Given the description of an element on the screen output the (x, y) to click on. 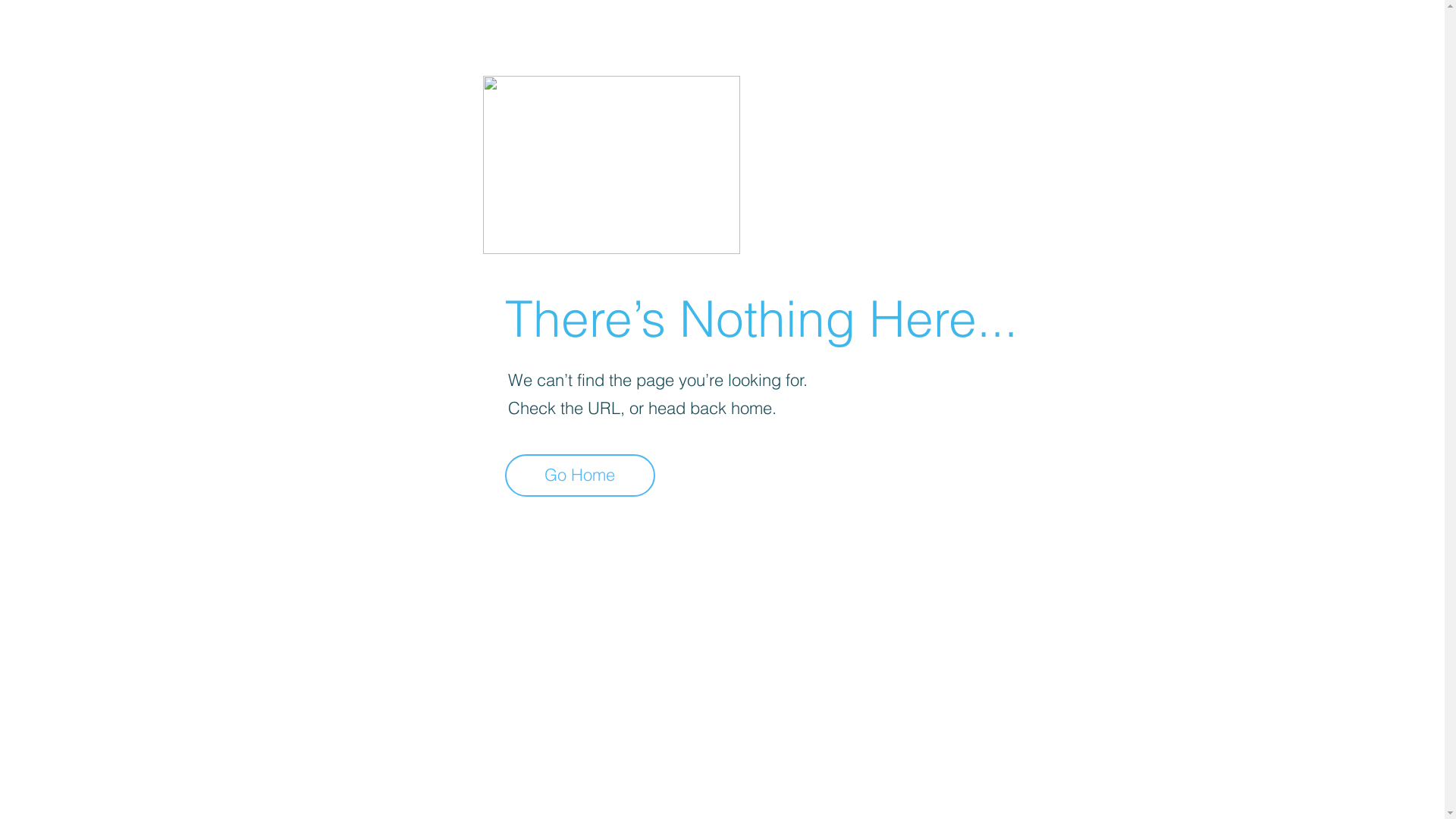
Go Home Element type: text (580, 475)
404-icon_2.png Element type: hover (610, 164)
